Given the description of an element on the screen output the (x, y) to click on. 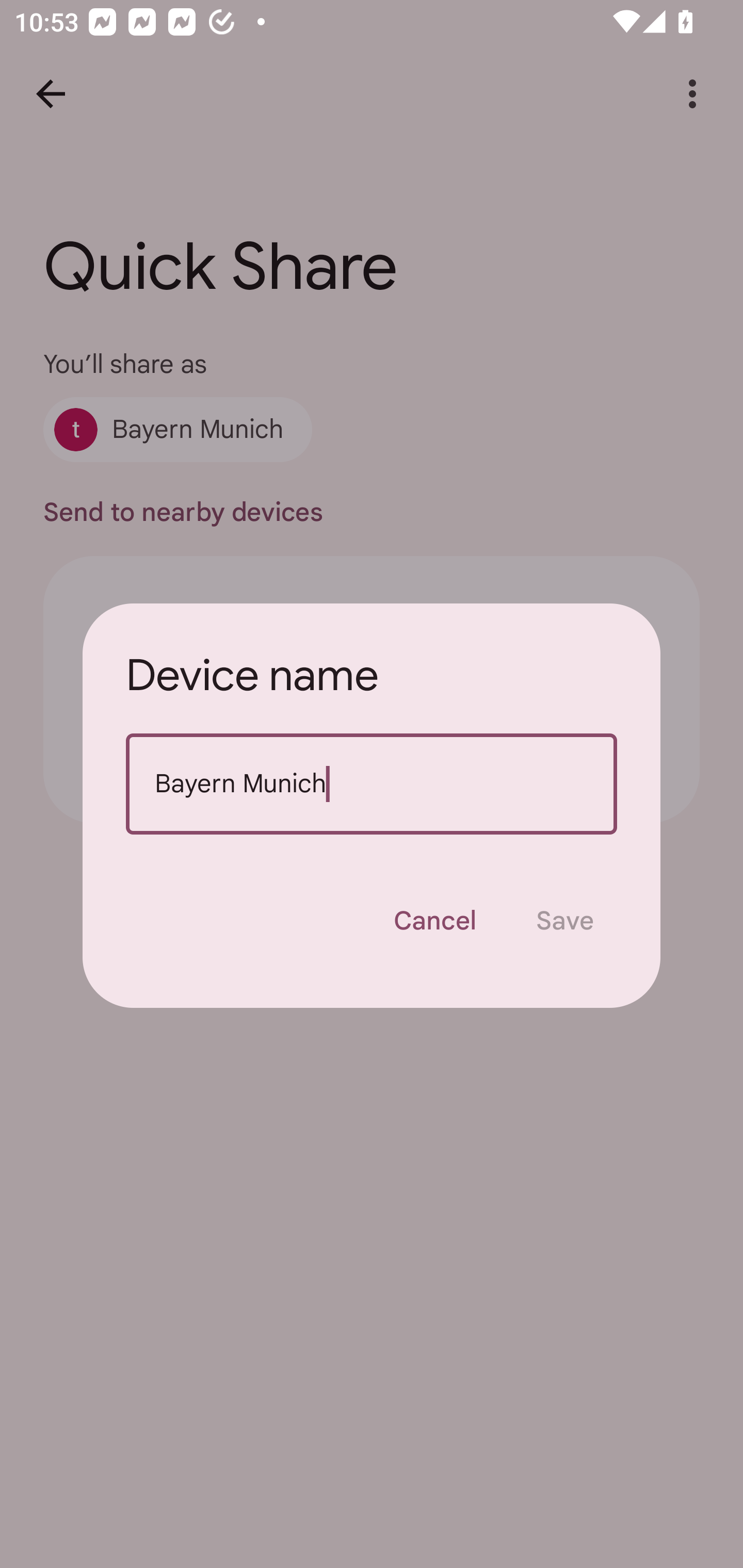
Bayern Munich Device name (371, 783)
Cancel (434, 921)
Save (564, 921)
